Given the description of an element on the screen output the (x, y) to click on. 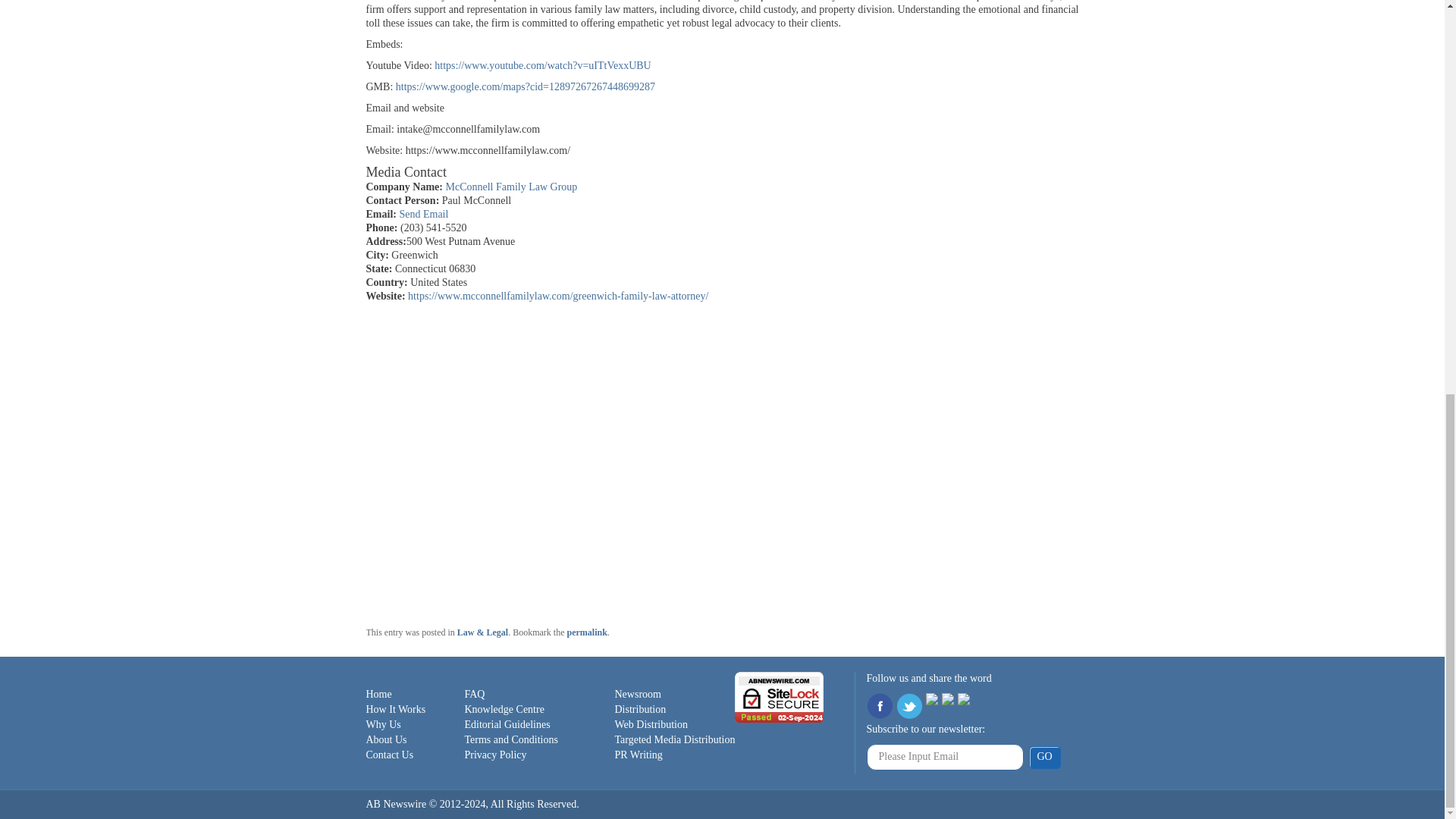
SiteLock (779, 696)
Please Input Email (944, 756)
GO (1043, 757)
